Given the description of an element on the screen output the (x, y) to click on. 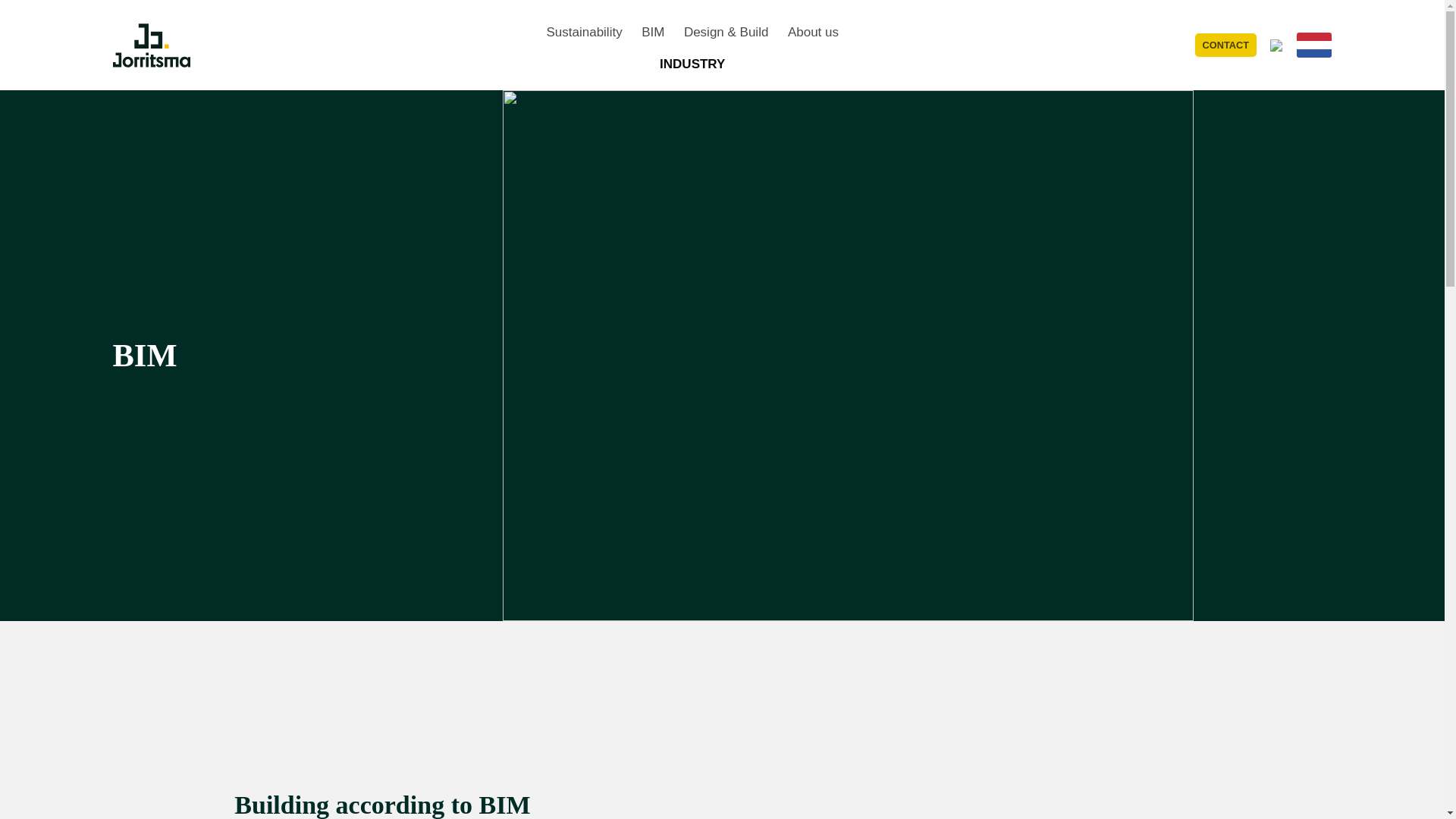
Sustainability (584, 31)
Jorritsma Bouw (150, 44)
About us (812, 31)
BIM (652, 31)
INDUSTRY (692, 64)
CONTACT (1225, 45)
